Given the description of an element on the screen output the (x, y) to click on. 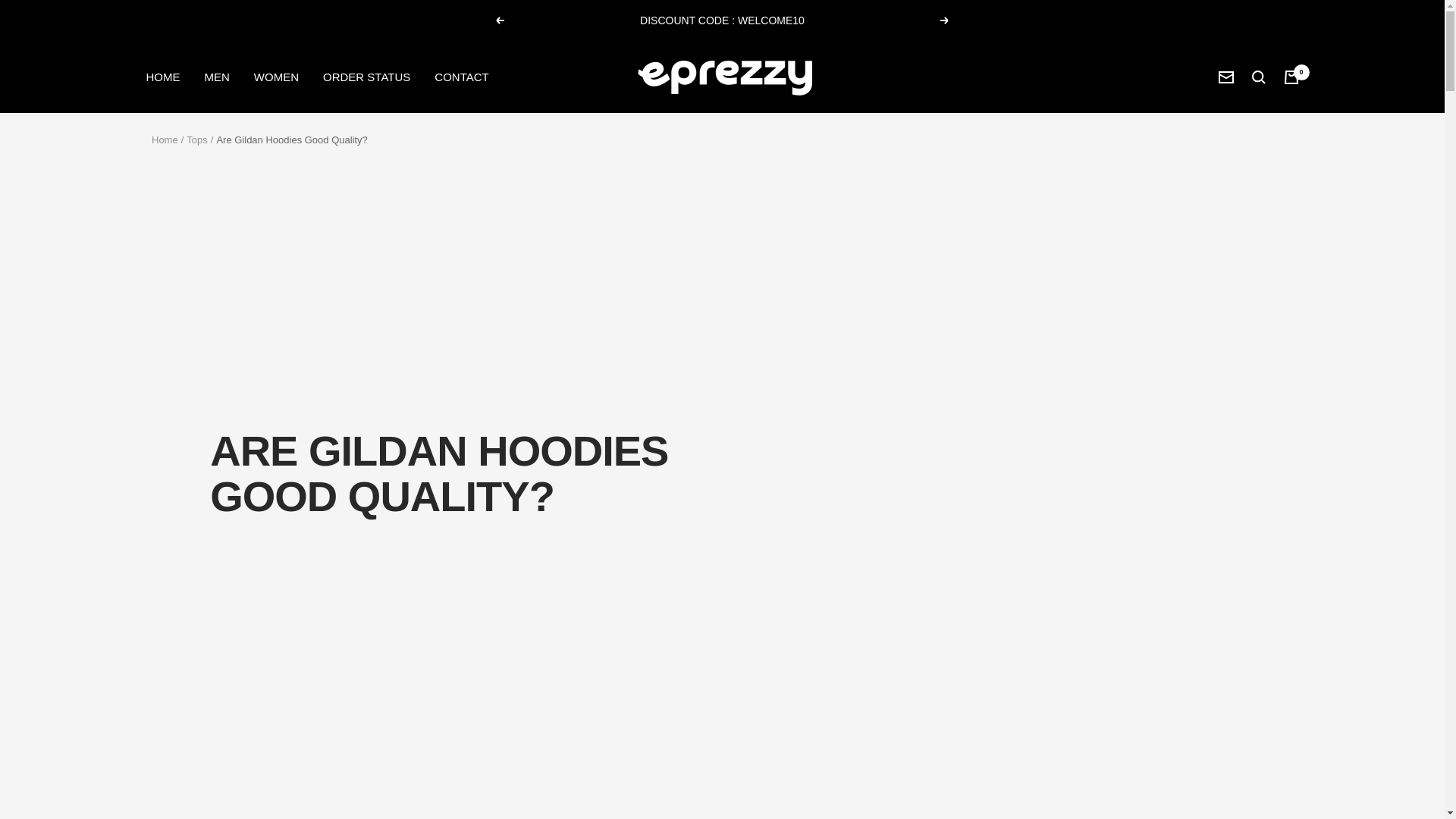
Tops (196, 139)
CONTACT (460, 76)
MEN (217, 76)
Next (944, 20)
HOME (162, 76)
Home (164, 139)
WOMEN (275, 76)
Eprezzy (721, 76)
ORDER STATUS (366, 76)
Newsletter (1225, 77)
0 (1290, 76)
Previous (499, 20)
